Given the description of an element on the screen output the (x, y) to click on. 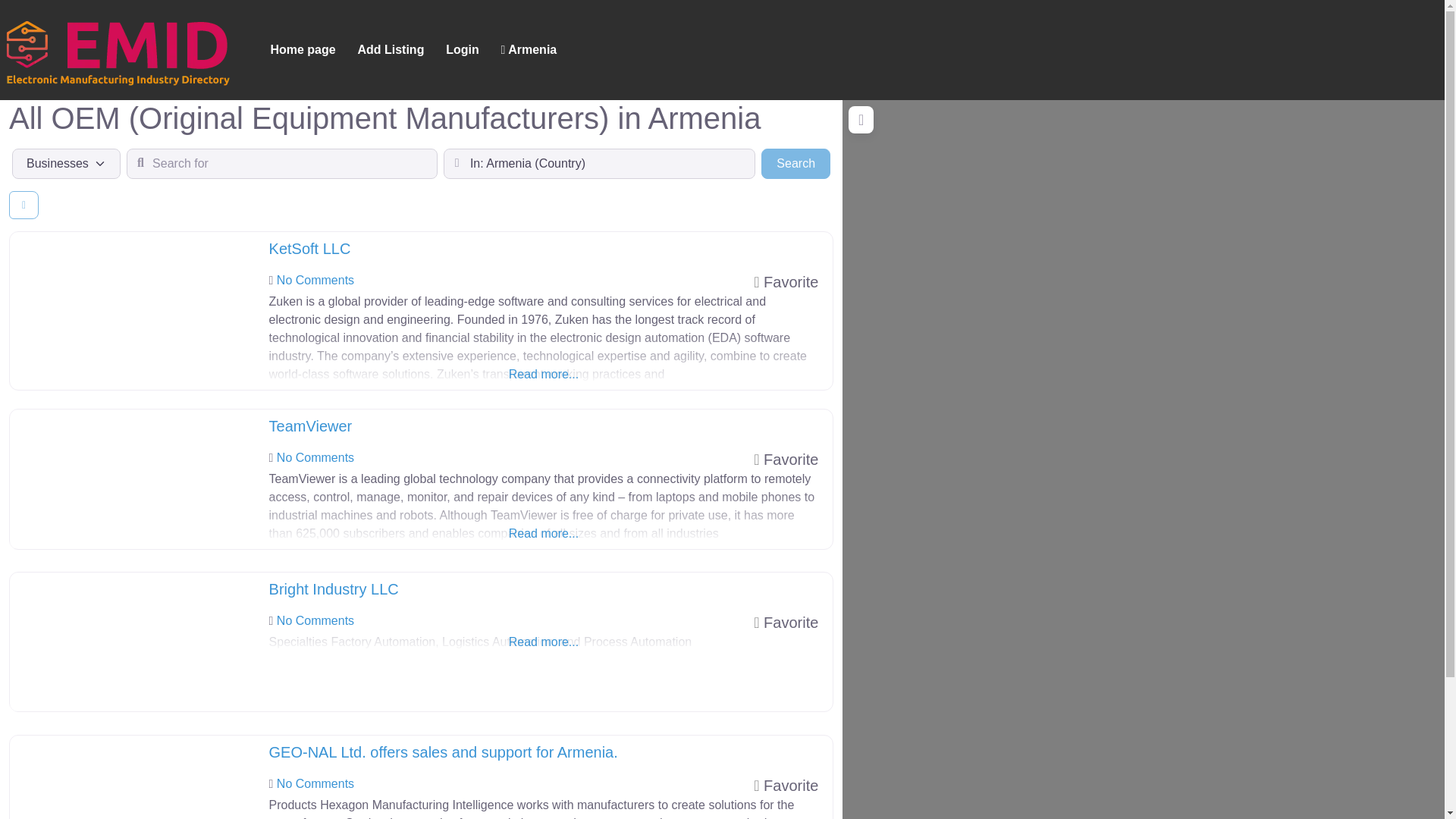
No Comments (795, 163)
Add to Favorites (314, 457)
Home page (786, 459)
Add to Favorites (302, 49)
KetSoft LLC (786, 622)
View: TeamViewer (309, 248)
Read more... (310, 425)
Read more... (543, 356)
Add to Favorites (543, 624)
